Given the description of an element on the screen output the (x, y) to click on. 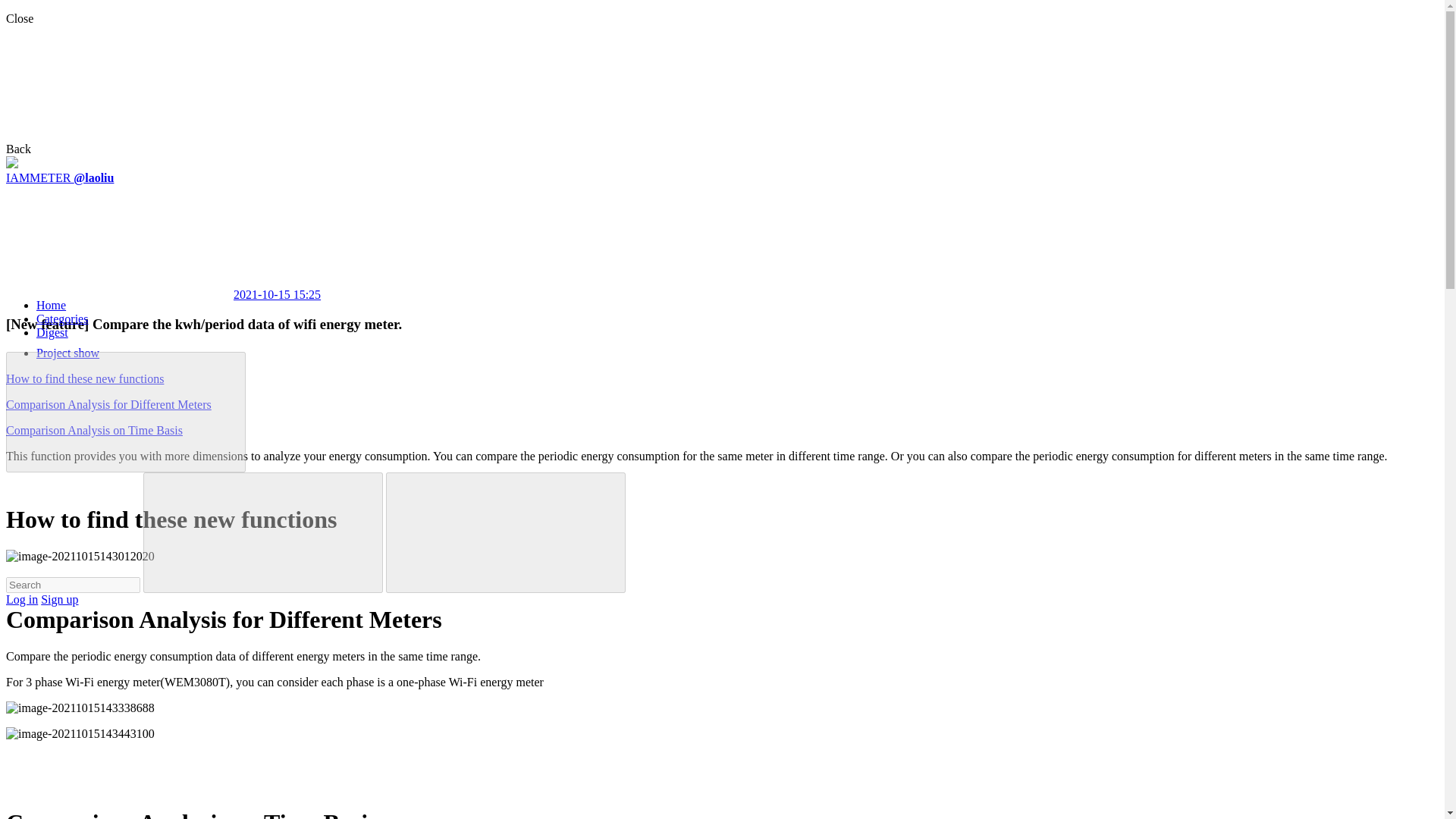
Comparison Analysis on Time Basis (94, 430)
Sign up (59, 599)
Home (50, 305)
Digest (52, 332)
Categories (61, 318)
Comparison Analysis for Different Meters (108, 404)
How to find these new functions (84, 378)
Log in (21, 599)
Project show (67, 352)
2021-10-15 15:25 (162, 294)
